Given the description of an element on the screen output the (x, y) to click on. 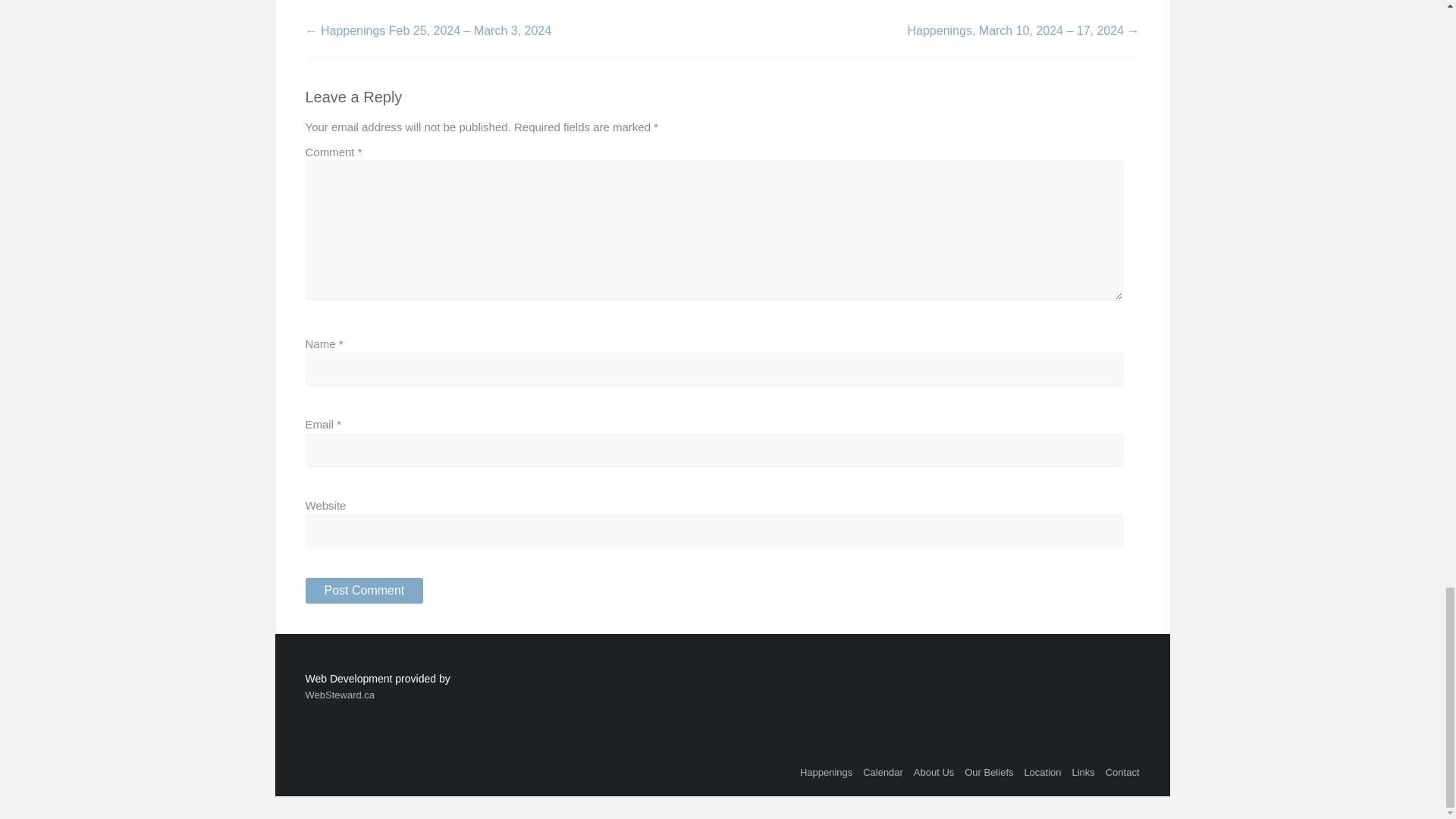
Our Beliefs (988, 772)
Location (1042, 772)
WebSteward.ca  (340, 695)
Happenings (825, 772)
Calendar (882, 772)
Links (1082, 772)
About Us (933, 772)
Post Comment (363, 590)
Contact (1122, 772)
Post Comment (363, 590)
